Given the description of an element on the screen output the (x, y) to click on. 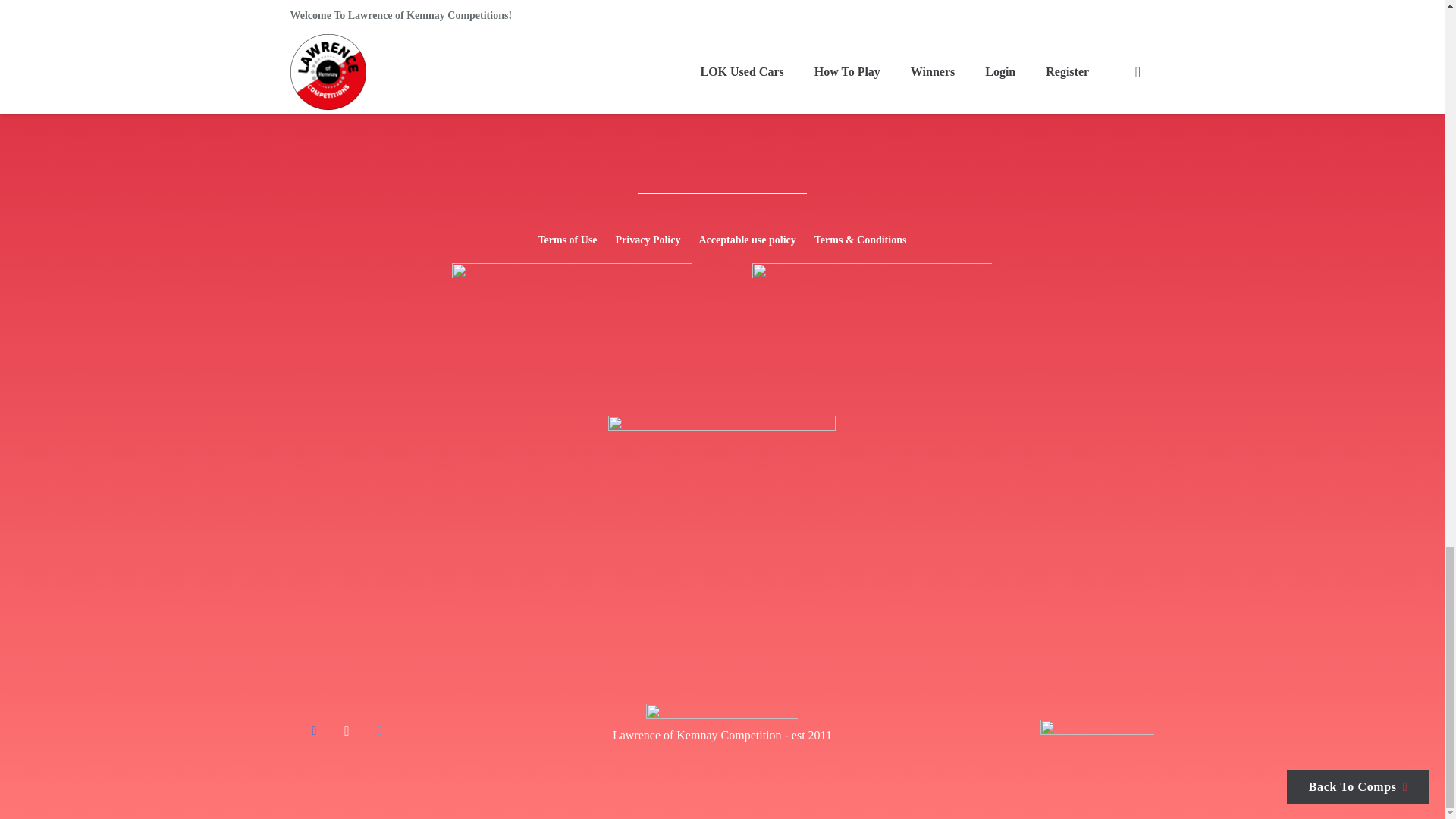
Acceptable use policy (746, 239)
Instagram (346, 730)
Terms of Use (567, 239)
Facebook (313, 730)
Privacy Policy (648, 239)
Twitter (379, 730)
